Given the description of an element on the screen output the (x, y) to click on. 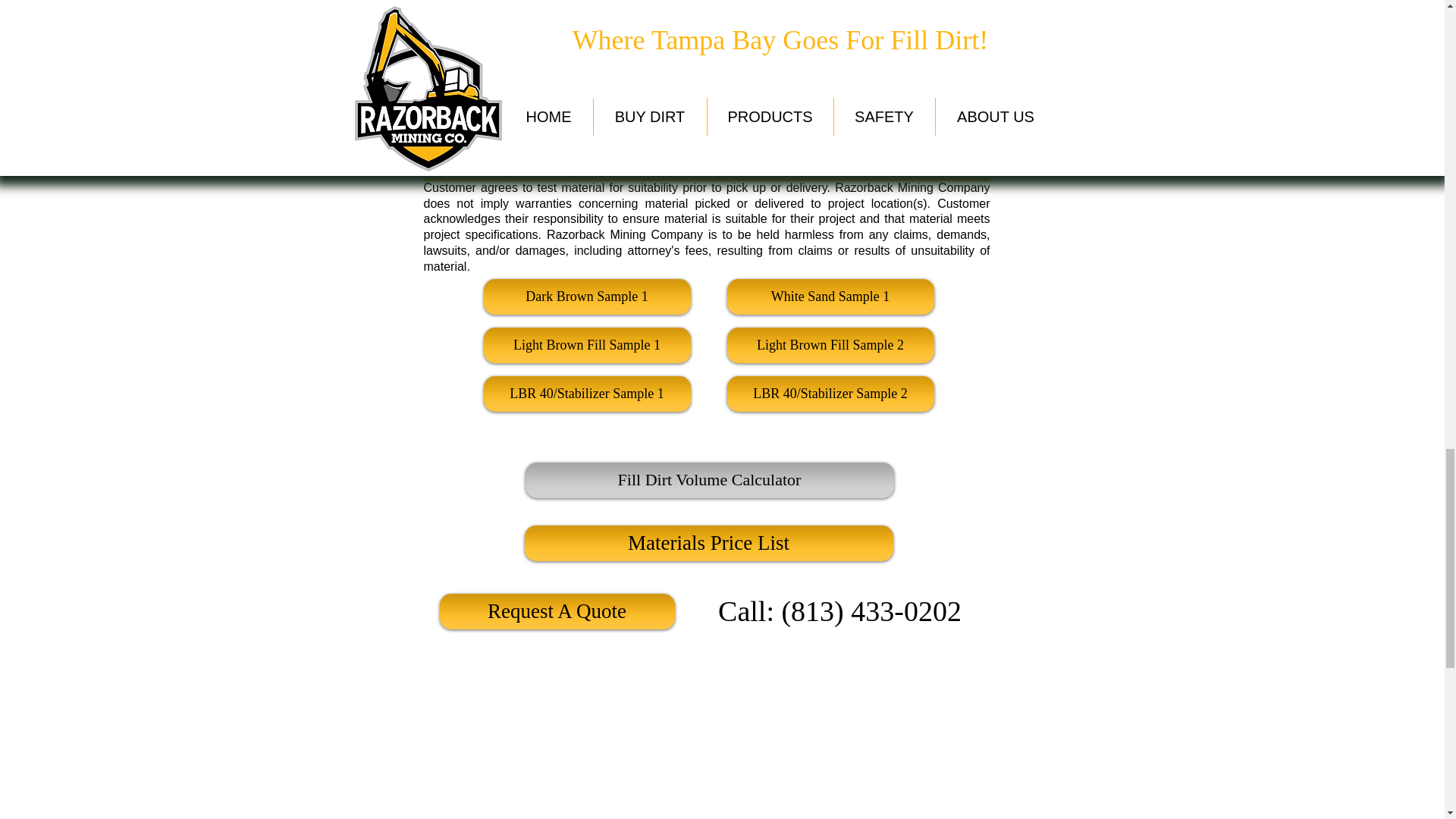
Fill Dirt Volume Calculator (708, 479)
Materials Price List (708, 543)
Light Brown Fill Sample 1 (586, 345)
Embedded Content (555, 743)
Embedded Content (894, 744)
Tampa Bay Beach Compatible Sand material (483, 82)
White Sand Sample 1 (829, 296)
Light Brown Fill Sample 2 (829, 345)
Dark Brown Sample 1 (586, 296)
